Given the description of an element on the screen output the (x, y) to click on. 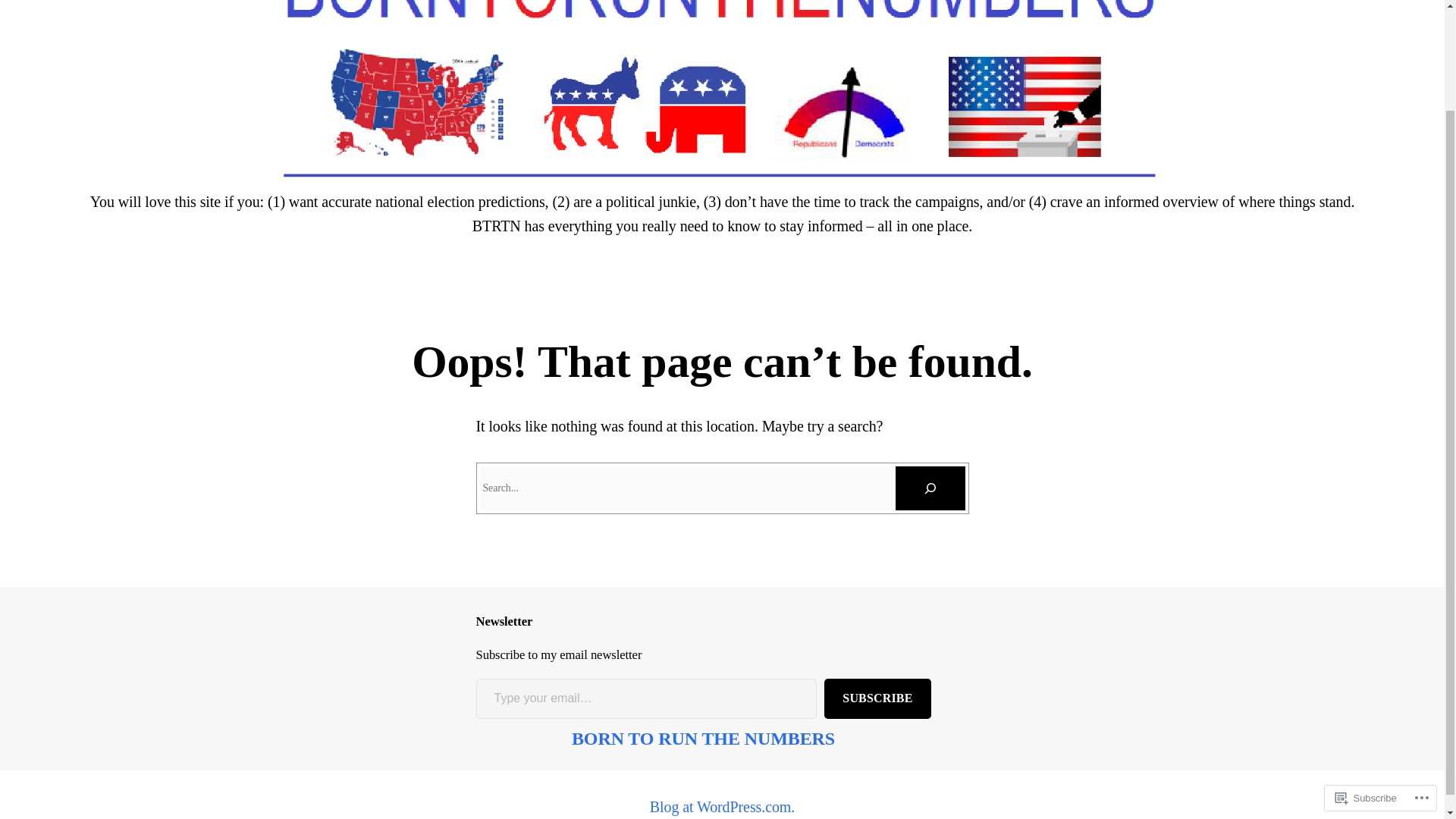
BORN TO RUN THE NUMBERS (703, 738)
SUBSCRIBE (877, 698)
Blog at WordPress.com. (721, 806)
Please fill in this field. (646, 698)
Subscribe (1366, 678)
